Given the description of an element on the screen output the (x, y) to click on. 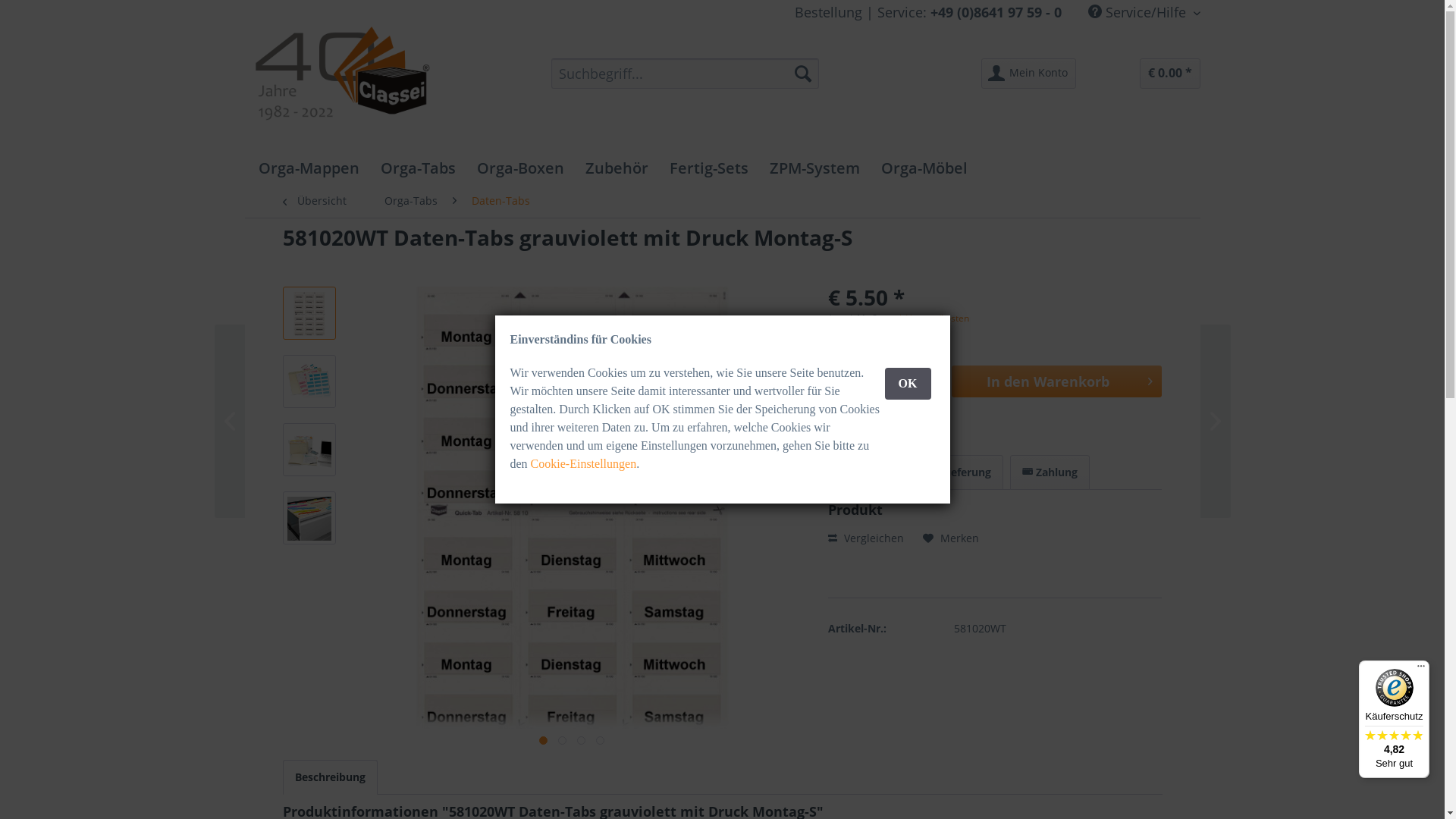
Orga-Boxen Element type: text (519, 167)
  Element type: text (543, 740)
Lieferung Element type: text (959, 472)
ZPM-System Element type: text (813, 167)
581020D Daten-Tabs grauviolett mit Druck Telefonie Element type: hover (304, 420)
Cookie-Einstellungen Element type: text (583, 463)
Vorschau: 581020WT Daten-Tabs grauviolett mit Druck Montag-S Element type: hover (308, 517)
Fertig-Sets Element type: text (708, 167)
Orga-Tabs Element type: text (418, 167)
Orga-Tabs Element type: text (410, 200)
  Element type: text (562, 740)
Vergleichen Element type: text (865, 538)
Mein Konto Element type: text (1028, 73)
Vorschau: 581020WT Daten-Tabs grauviolett mit Druck Montag-S Element type: hover (308, 380)
Merken Element type: text (950, 538)
Classei-Shop CH - zur Startseite wechseln Element type: hover (351, 79)
OK Element type: text (907, 383)
Zahlung Element type: text (1049, 472)
Beschreibung Element type: text (329, 776)
Vorschau: 581020WT Daten-Tabs grauviolett mit Druck Montag-S Element type: hover (308, 450)
Vorschau: 581020WT Daten-Tabs grauviolett mit Druck Montag-S Element type: hover (308, 382)
Produkt Element type: text (868, 472)
  Element type: text (581, 740)
zzgl. Versandkosten Element type: text (926, 317)
Vorschau: 581020WT Daten-Tabs grauviolett mit Druck Montag-S Element type: hover (308, 313)
  Element type: text (600, 740)
Orga-Mappen Element type: text (308, 167)
Vorschau: 581020WT Daten-Tabs grauviolett mit Druck Montag-S Element type: hover (308, 312)
In den Warenkorb Element type: text (1056, 381)
Vorschau: 581020WT Daten-Tabs grauviolett mit Druck Montag-S Element type: hover (308, 449)
Daten-Tabs Element type: text (500, 200)
Vorschau: 581020WT Daten-Tabs grauviolett mit Druck Montag-S Element type: hover (308, 518)
